Given the description of an element on the screen output the (x, y) to click on. 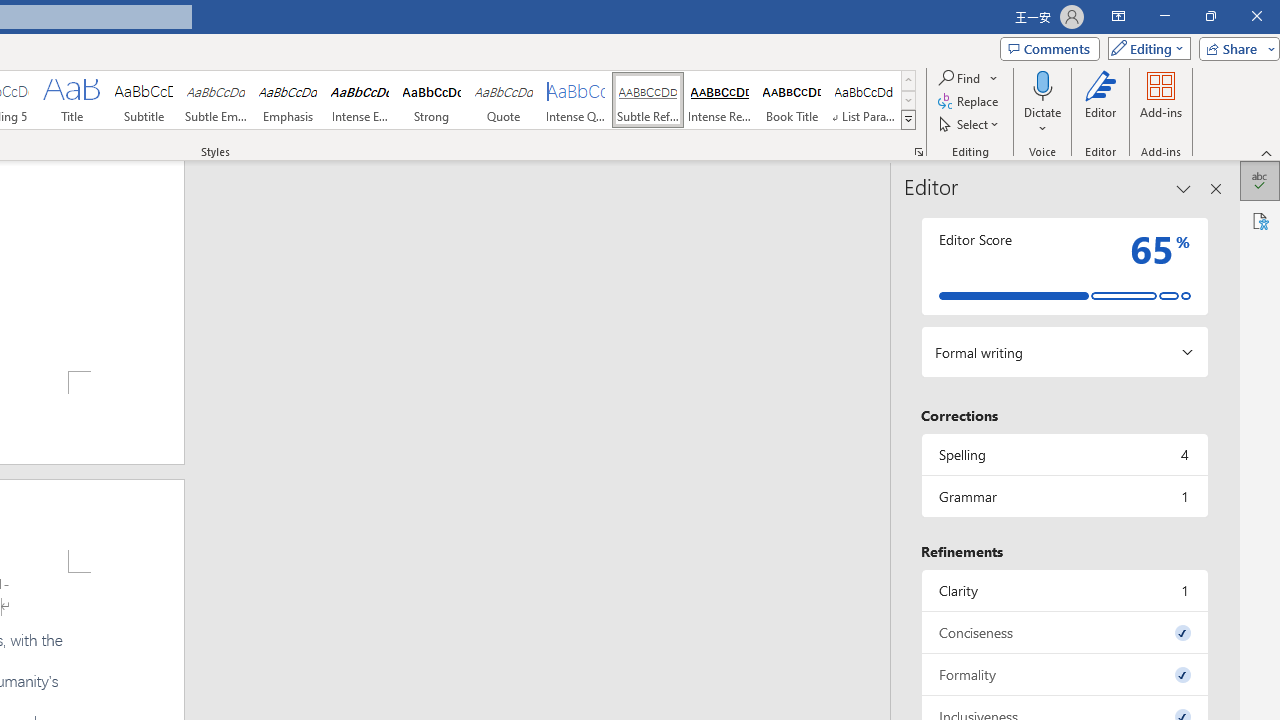
Intense Quote (575, 100)
